Given the description of an element on the screen output the (x, y) to click on. 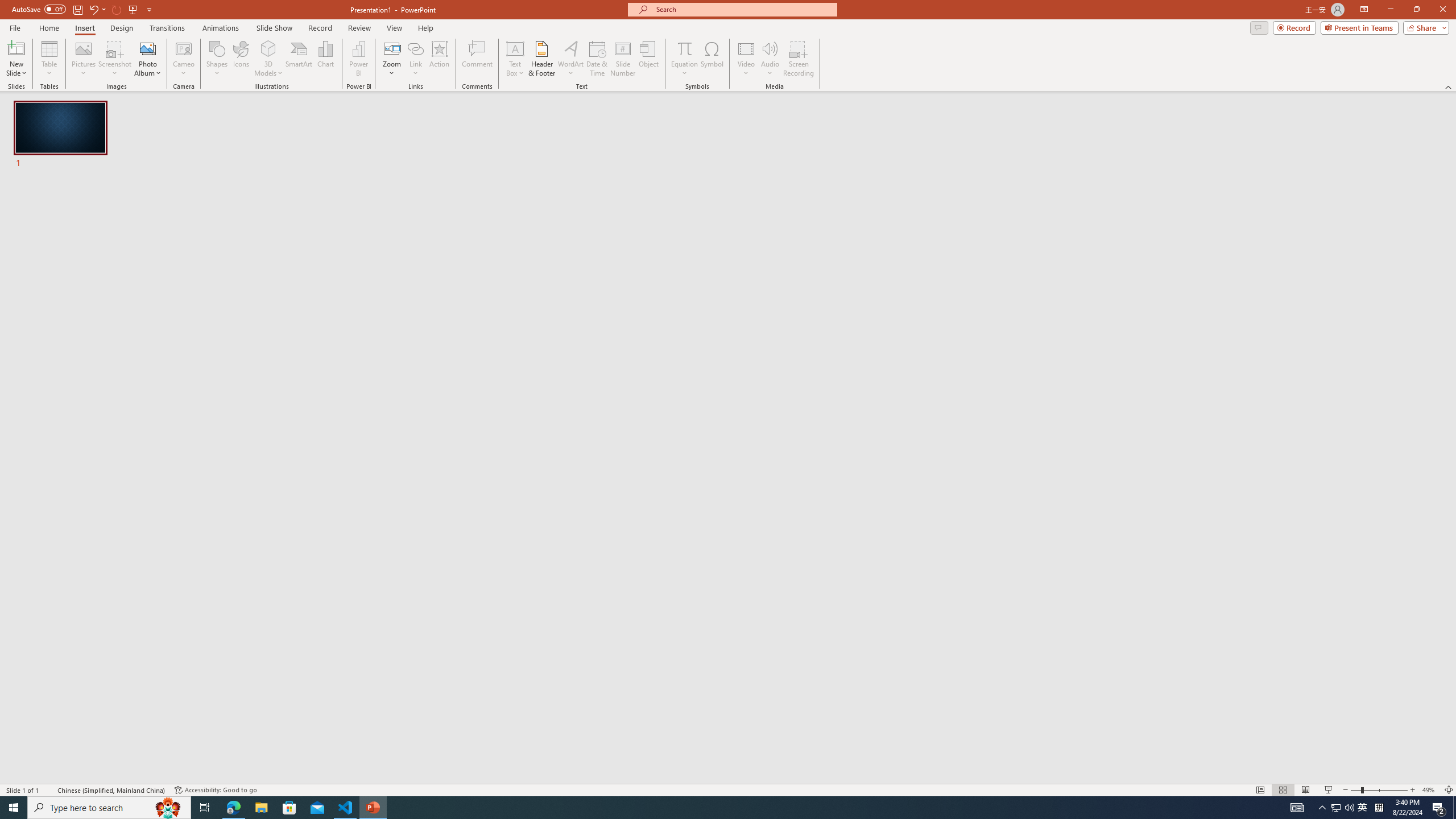
New Photo Album... (147, 48)
Microsoft search (742, 9)
New Slide (16, 48)
Table (49, 58)
Restore Down (1416, 9)
Action (439, 58)
Video (745, 58)
